Given the description of an element on the screen output the (x, y) to click on. 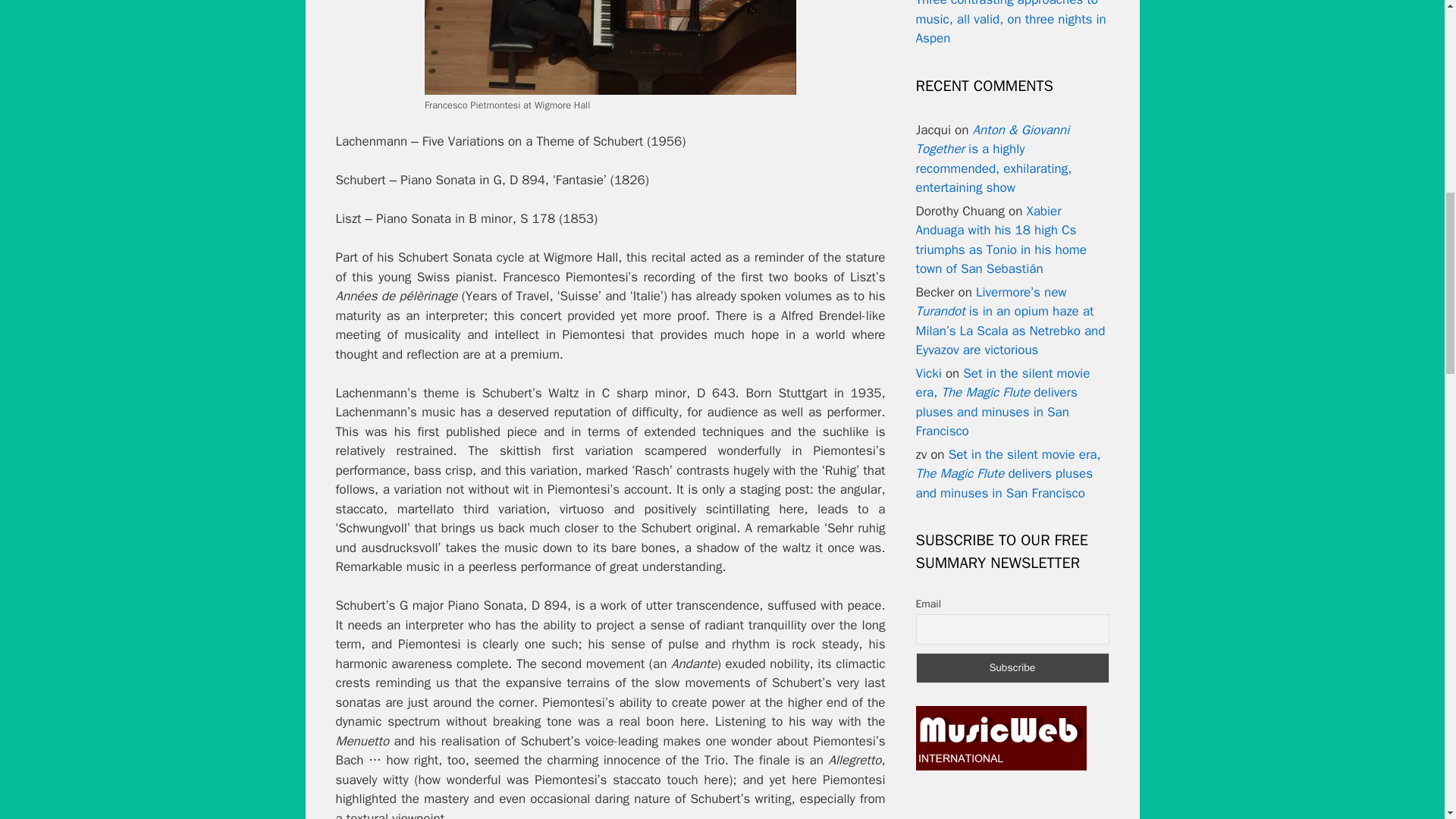
Subscribe (1012, 667)
